Given the description of an element on the screen output the (x, y) to click on. 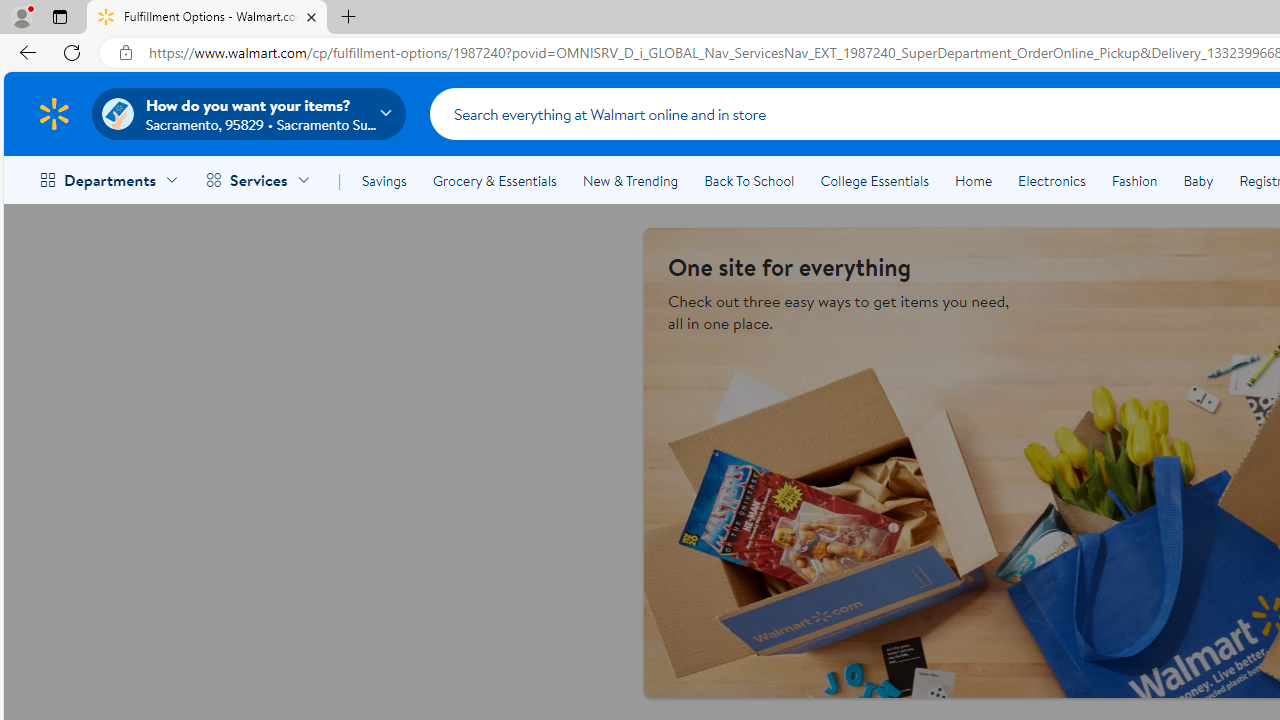
Back To School (749, 180)
College Essentials (874, 180)
New & Trending (630, 180)
